Given the description of an element on the screen output the (x, y) to click on. 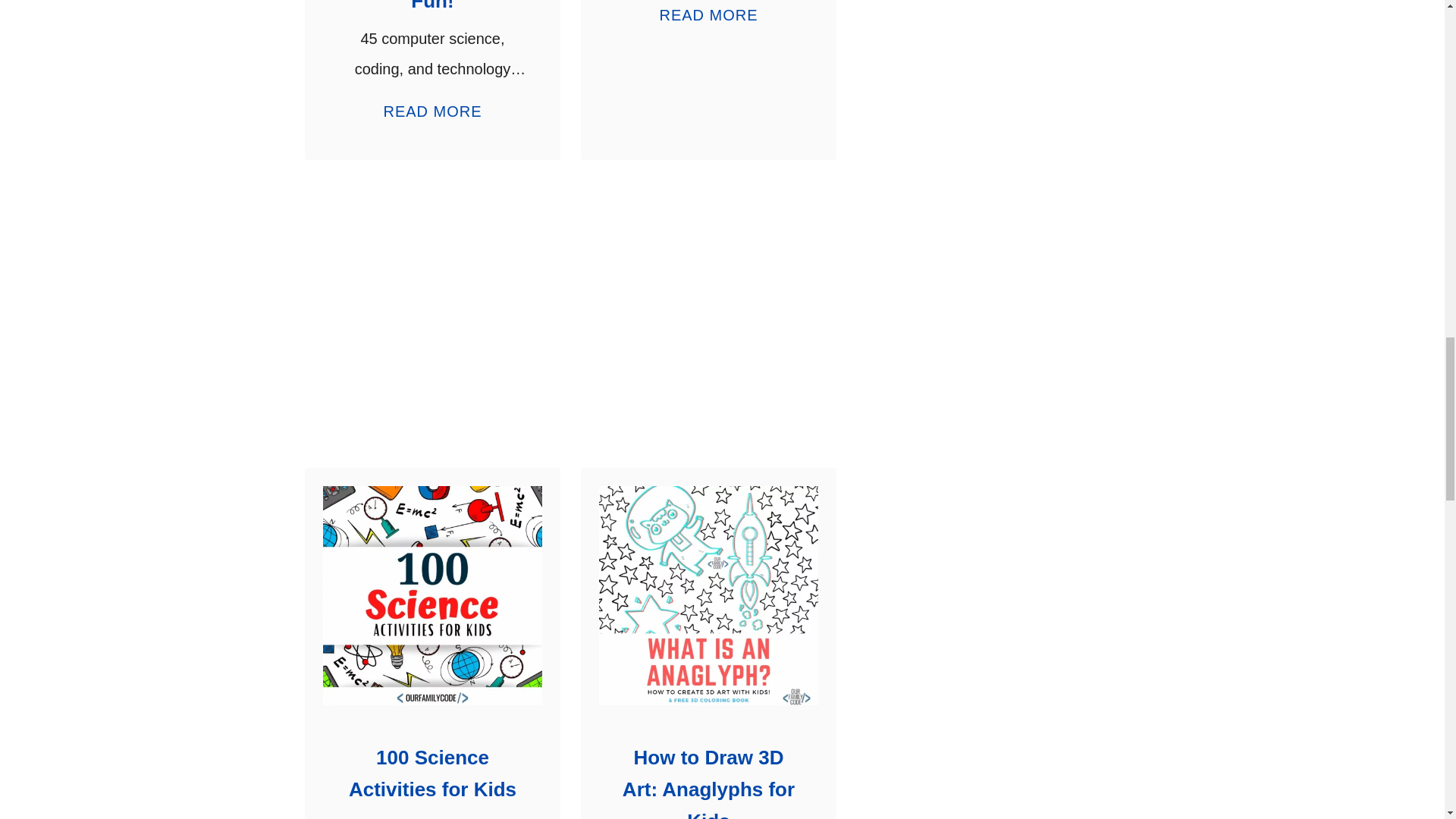
How to Draw 3D Art: Anaglyphs for Kids (708, 782)
100 Science Activities for Kids (432, 595)
How to Draw 3D Art: Anaglyphs for Kids (708, 595)
100 Science Activities for Kids (432, 773)
